Given the description of an element on the screen output the (x, y) to click on. 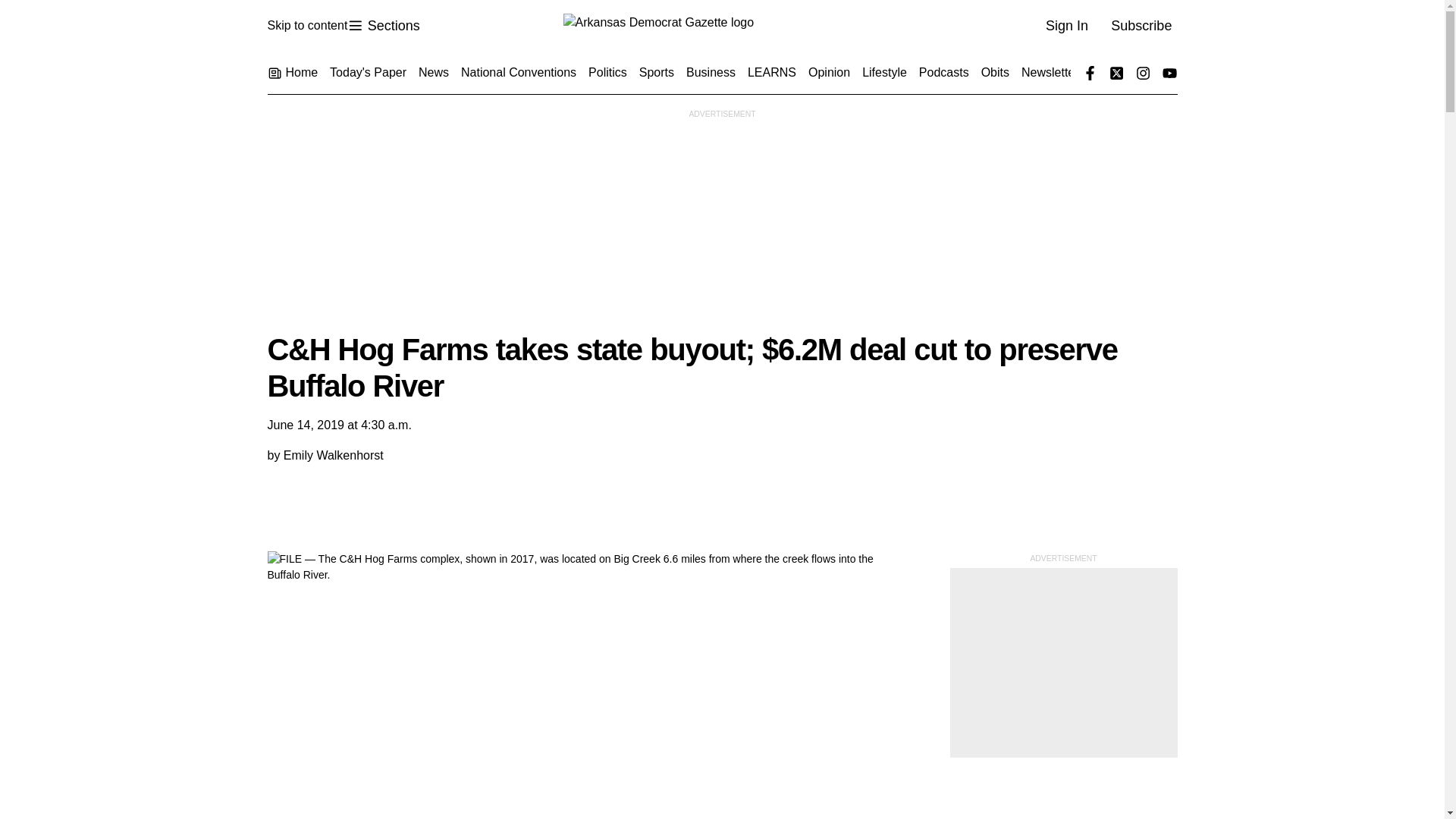
Skip to content (306, 25)
Arkansas Democrat Gazette (721, 25)
